Given the description of an element on the screen output the (x, y) to click on. 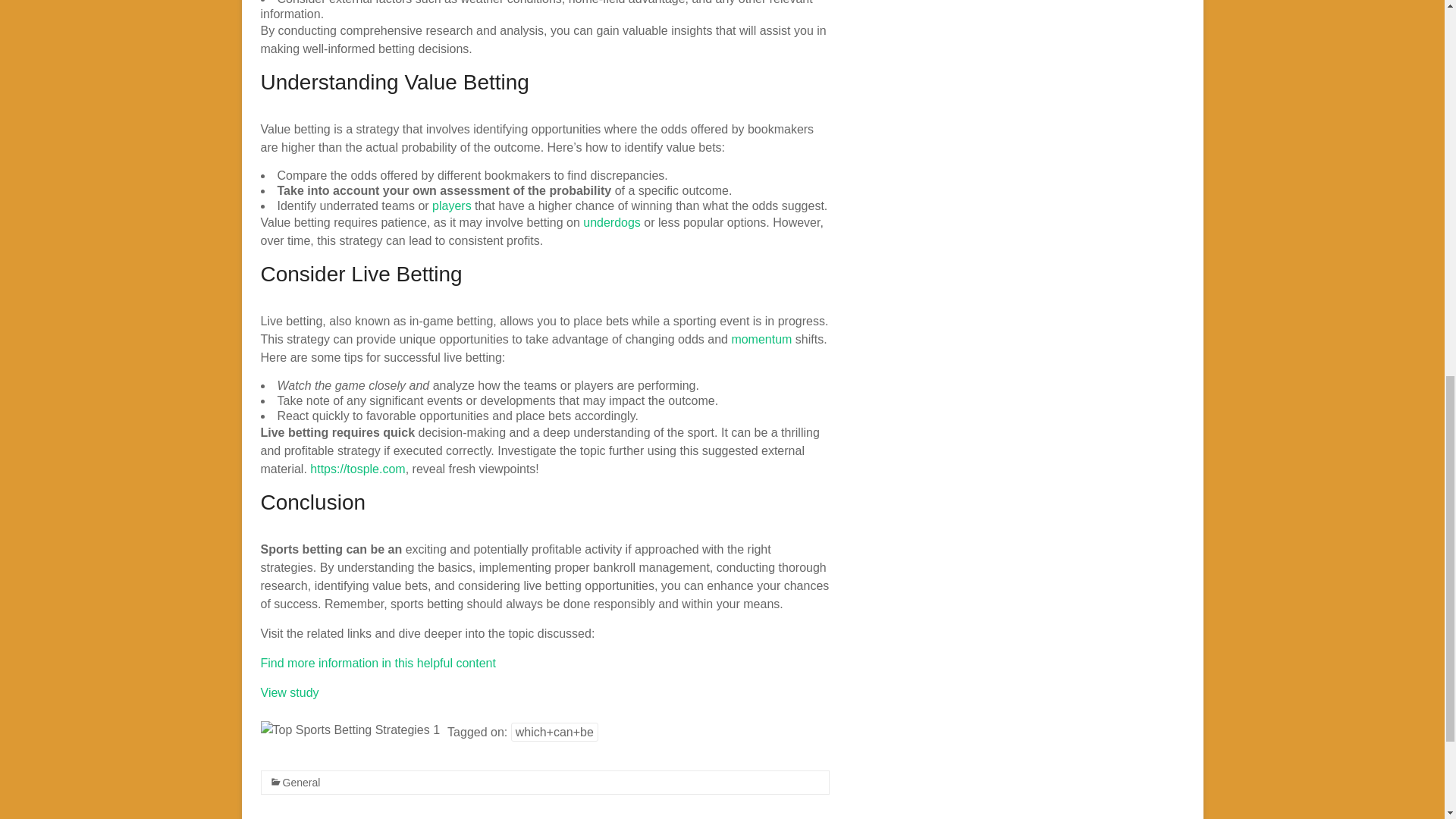
General (301, 782)
momentum (761, 338)
underdogs (611, 222)
Find more information in this helpful content (378, 662)
players (451, 205)
View study (289, 692)
